Given the description of an element on the screen output the (x, y) to click on. 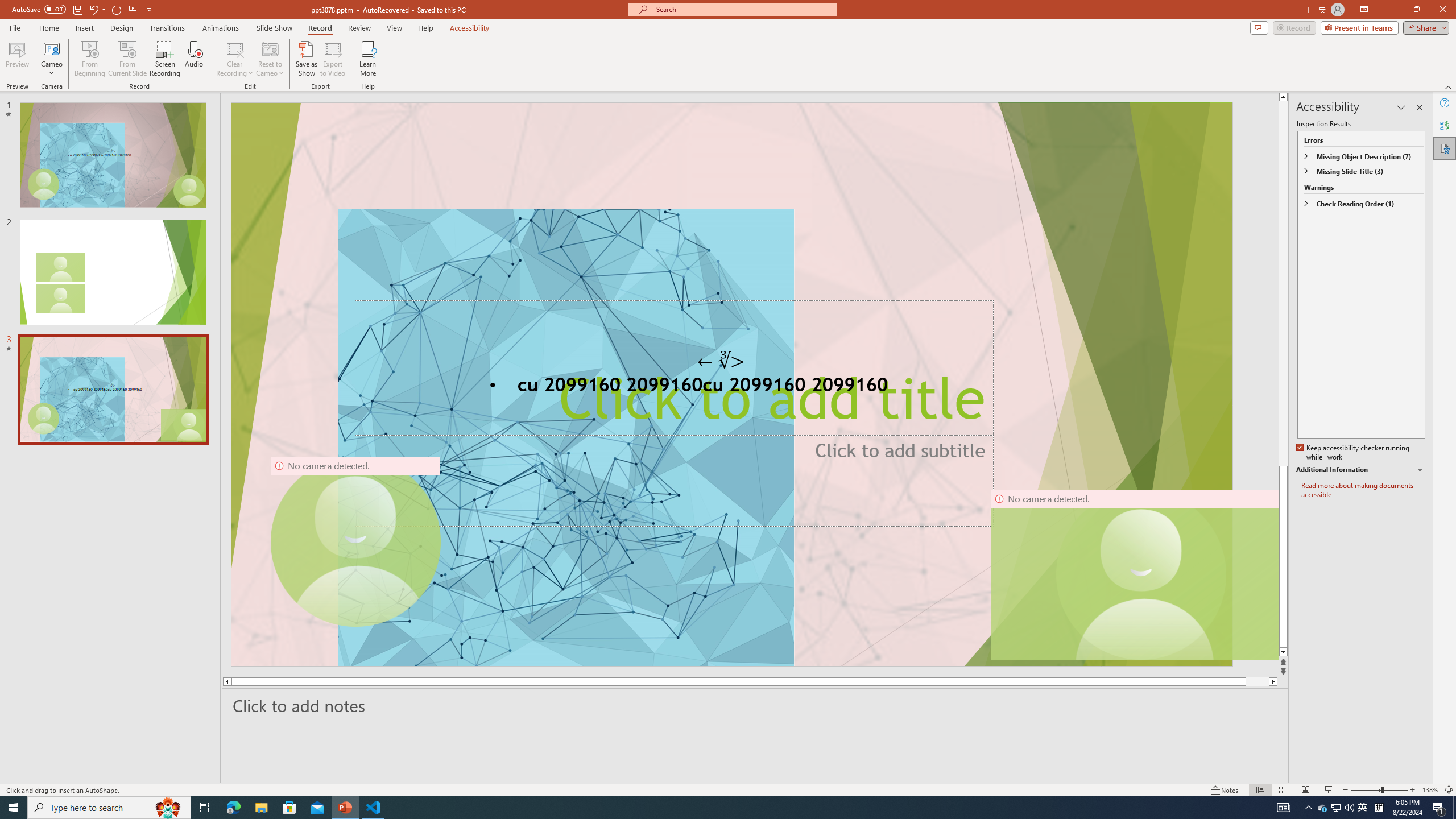
From Current Slide... (127, 58)
